Given the description of an element on the screen output the (x, y) to click on. 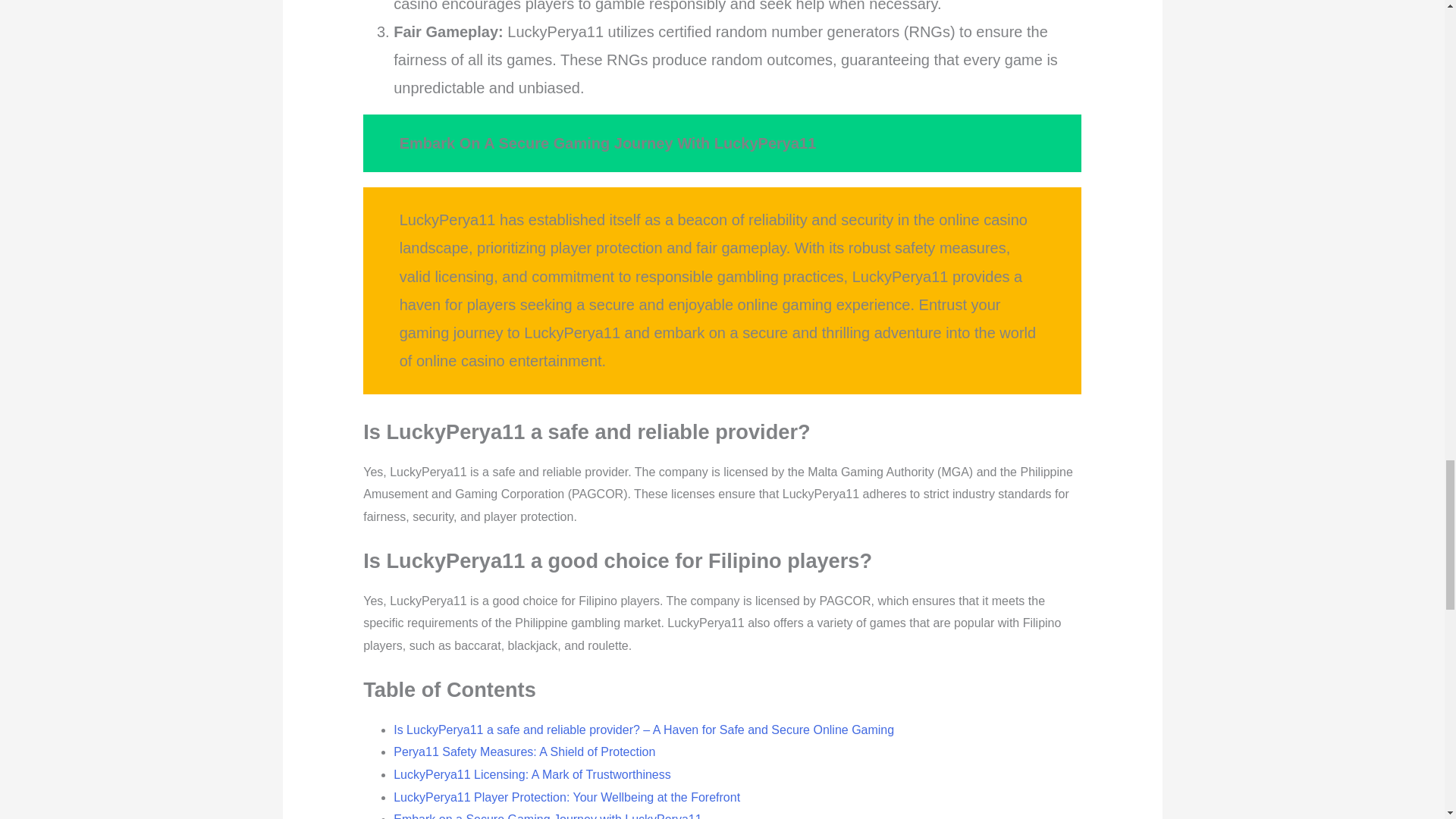
Perya11 Safety Measures: A Shield of Protection (524, 751)
LuckyPerya11 Licensing: A Mark of Trustworthiness (532, 774)
Embark on a Secure Gaming Journey with LuckyPerya11 (547, 816)
